Given the description of an element on the screen output the (x, y) to click on. 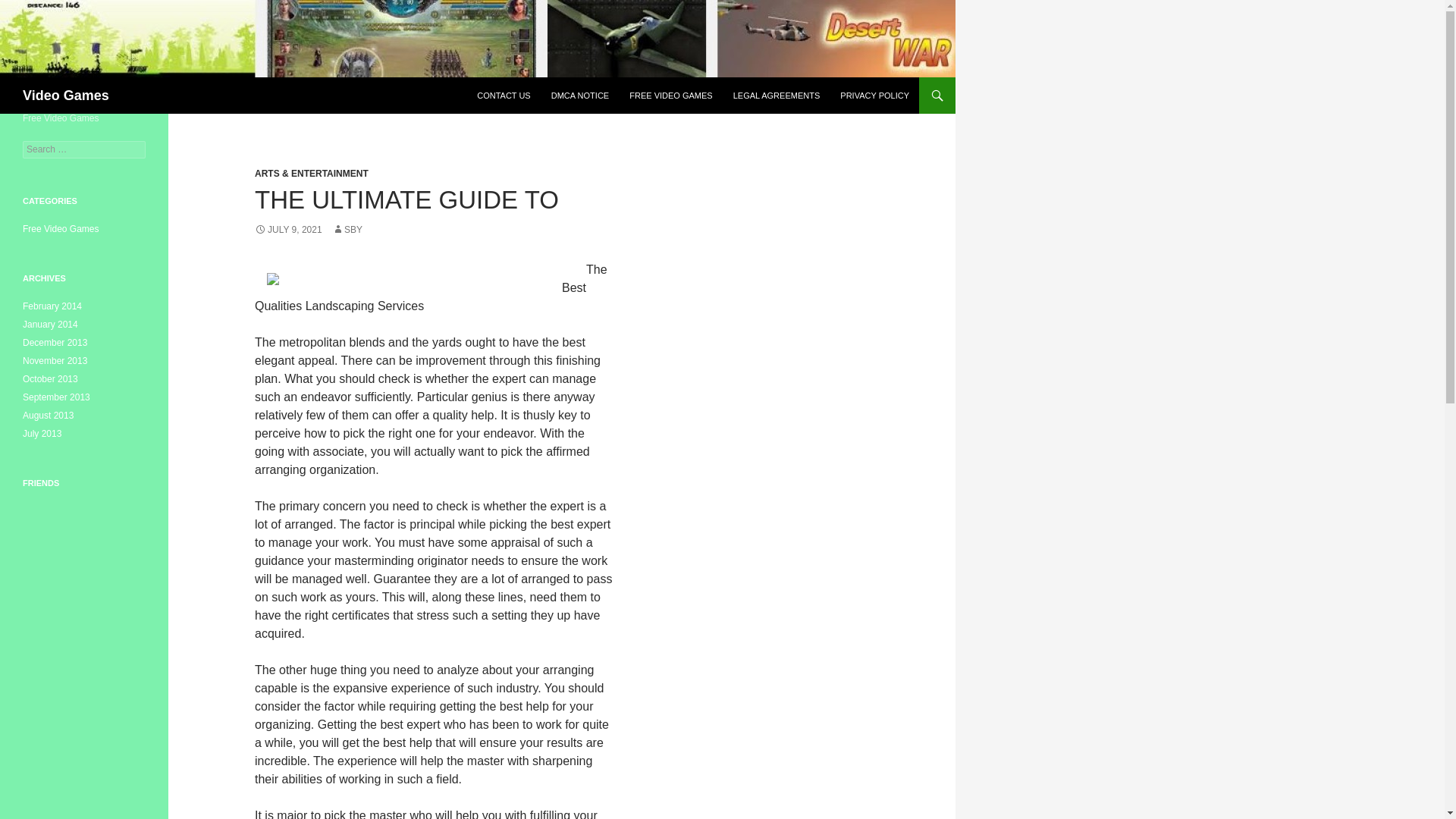
August 2013 (48, 415)
Free Video Games (61, 228)
October 2013 (50, 378)
July 2013 (42, 433)
SBY (346, 229)
JULY 9, 2021 (287, 229)
CONTACT US (503, 94)
Search (30, 8)
DMCA NOTICE (579, 94)
FREE VIDEO GAMES (670, 94)
September 2013 (56, 397)
January 2014 (50, 324)
December 2013 (55, 342)
LEGAL AGREEMENTS (776, 94)
